Given the description of an element on the screen output the (x, y) to click on. 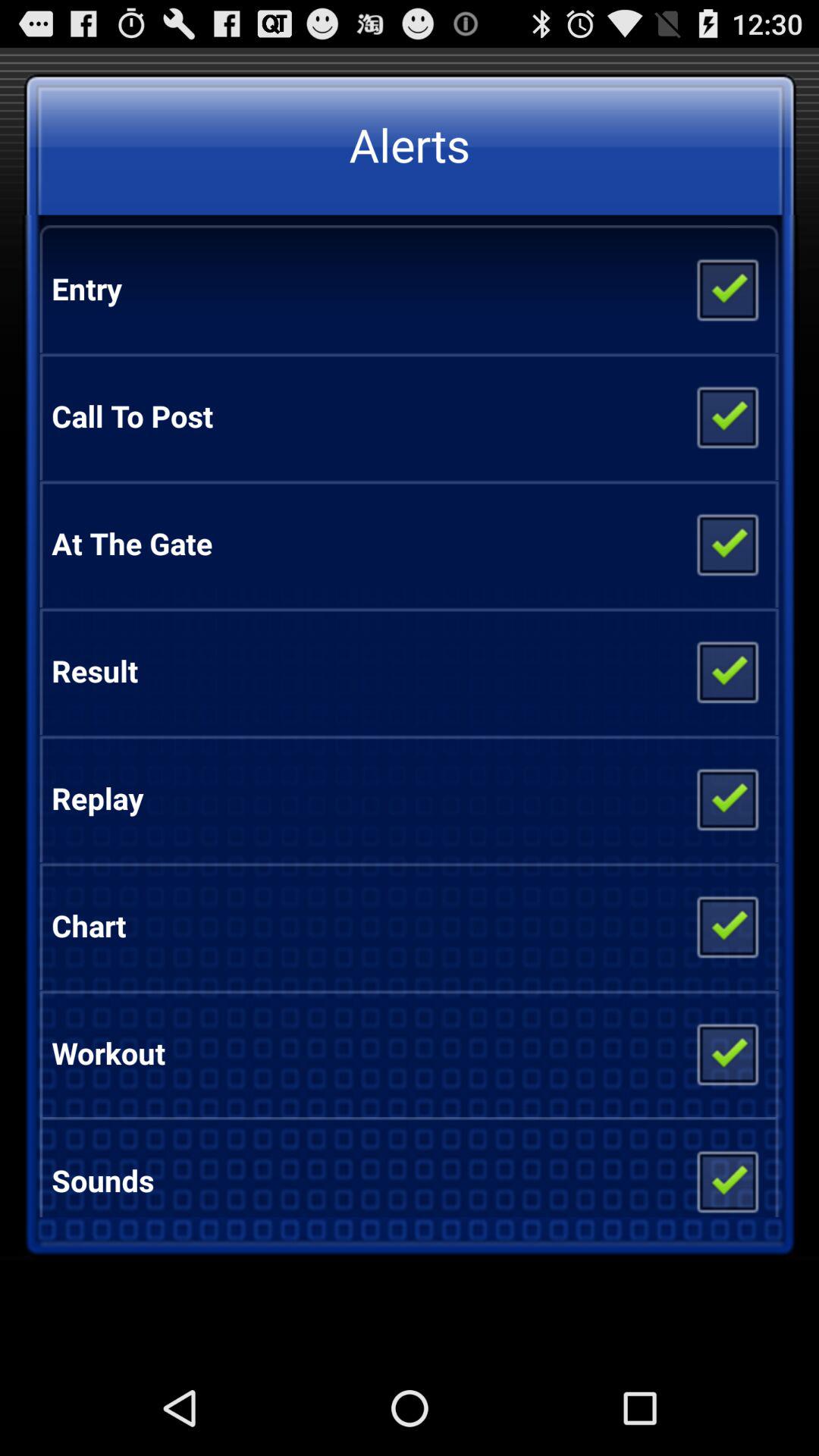
open the icon to the right of at the gate app (726, 543)
